Given the description of an element on the screen output the (x, y) to click on. 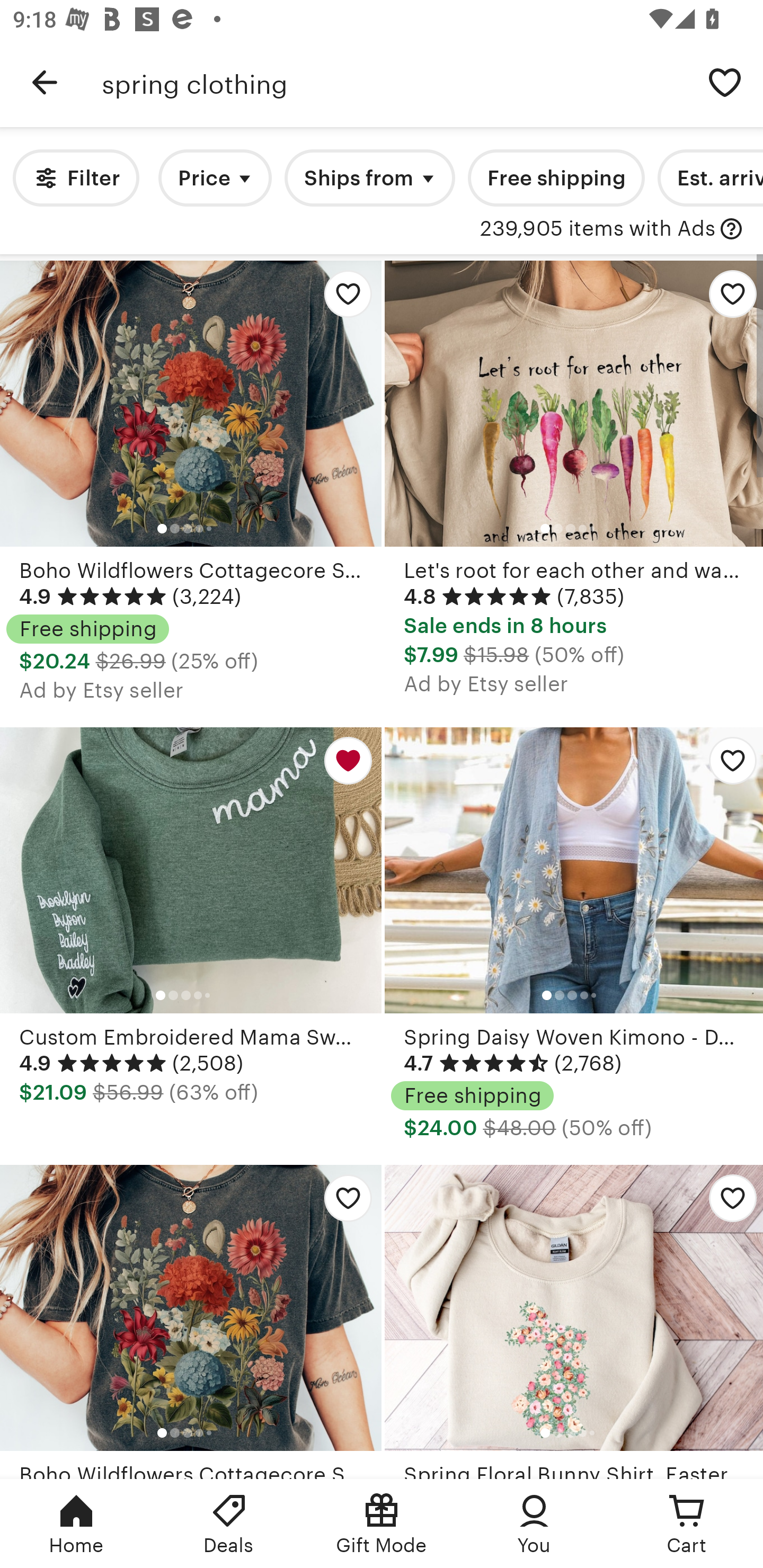
Navigate up (44, 82)
Save search (724, 81)
spring clothing (393, 82)
Filter (75, 177)
Price (214, 177)
Ships from (369, 177)
Free shipping (555, 177)
239,905 items with Ads (597, 228)
with Ads (730, 228)
Deals (228, 1523)
Gift Mode (381, 1523)
You (533, 1523)
Cart (686, 1523)
